Given the description of an element on the screen output the (x, y) to click on. 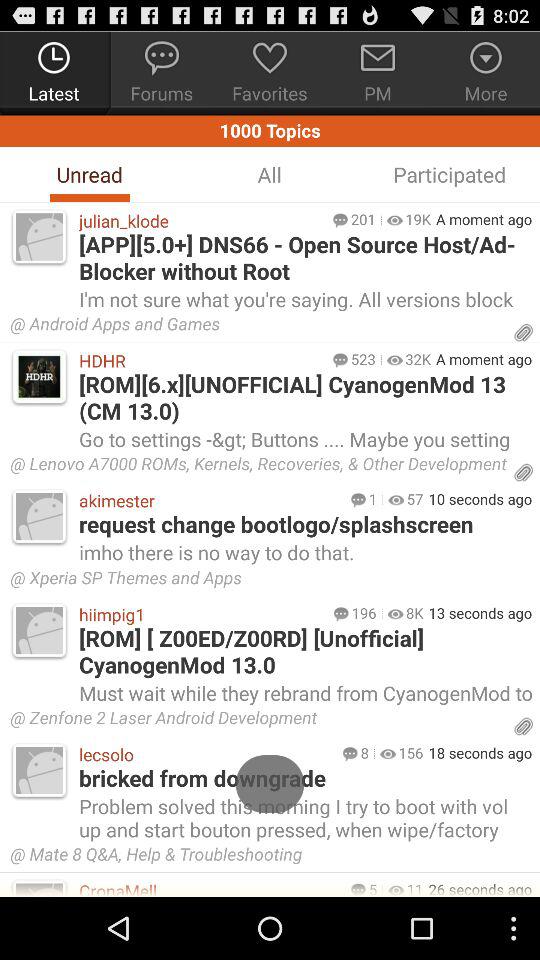
open julian_klode icon (200, 220)
